Given the description of an element on the screen output the (x, y) to click on. 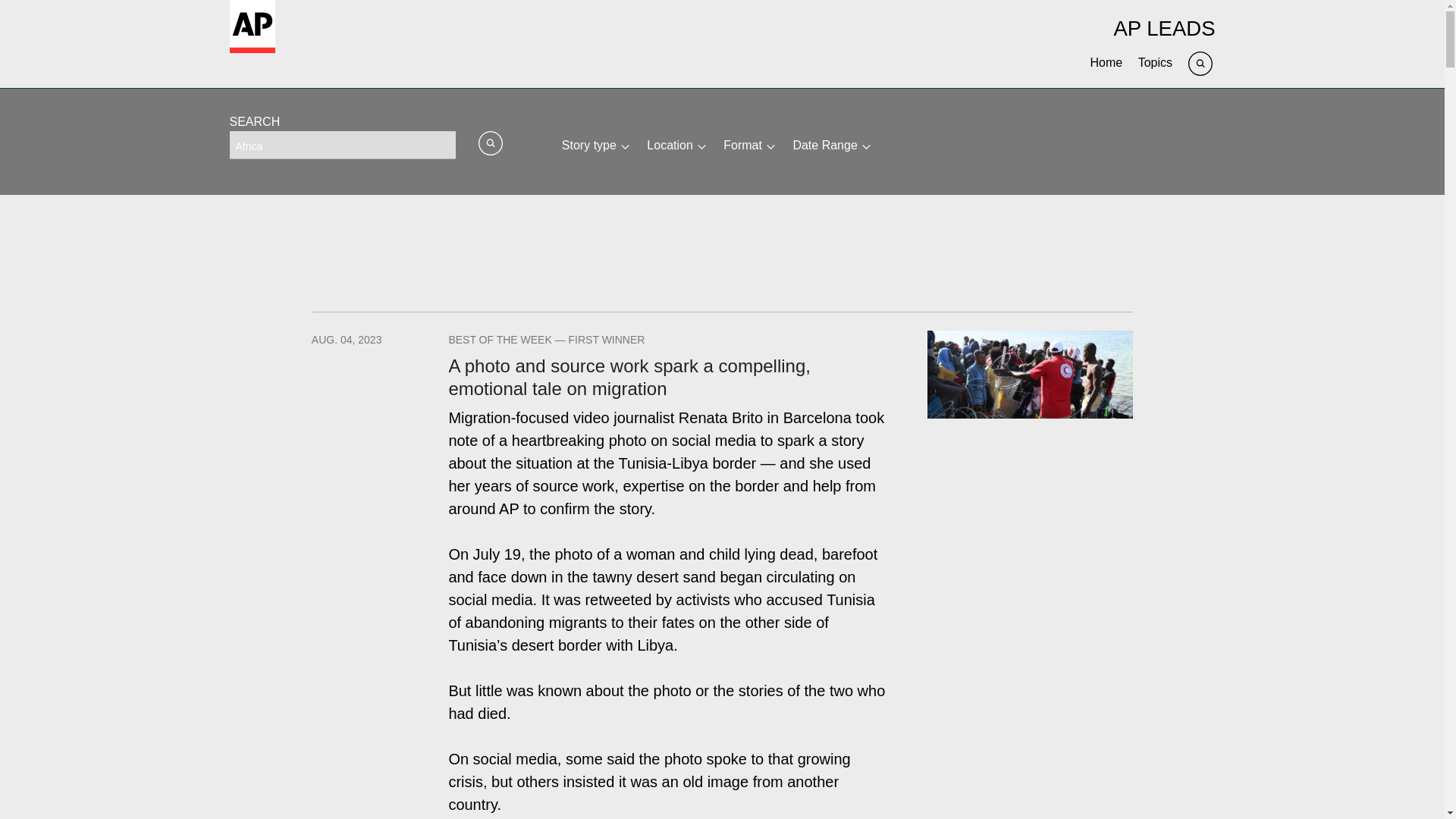
Home (1106, 62)
Africa (341, 144)
Topics (1155, 62)
Search (1201, 62)
Africa (341, 144)
AP LEADS (1163, 28)
